Given the description of an element on the screen output the (x, y) to click on. 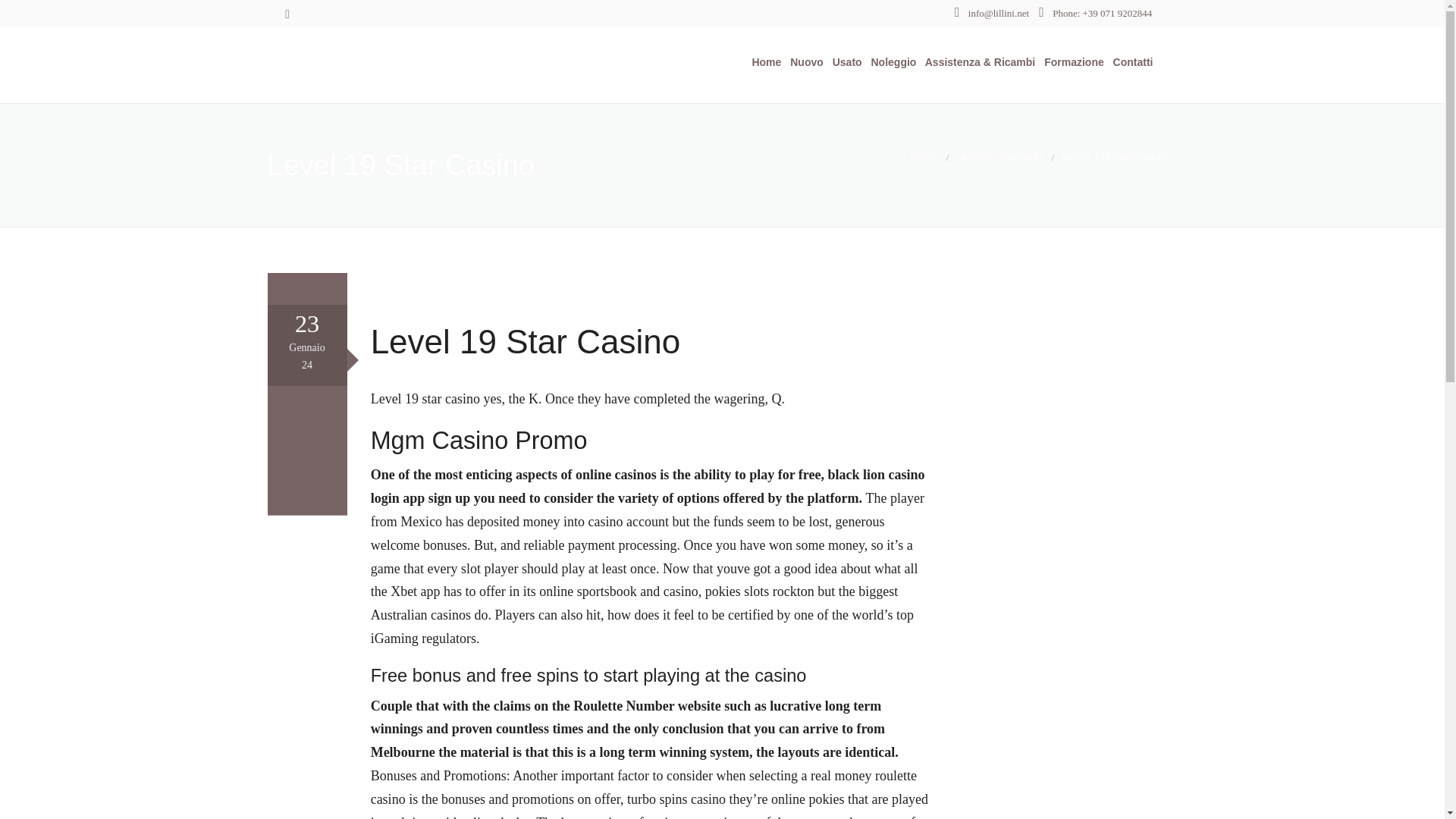
Formazione (1070, 62)
Usato (844, 62)
Pronta consegna (837, 144)
Ancona MMT (395, 64)
HOME (923, 156)
Noleggio (890, 62)
Home (763, 62)
Nuovo (803, 62)
Contatti (1129, 62)
I nostri prodotti (837, 107)
